Given the description of an element on the screen output the (x, y) to click on. 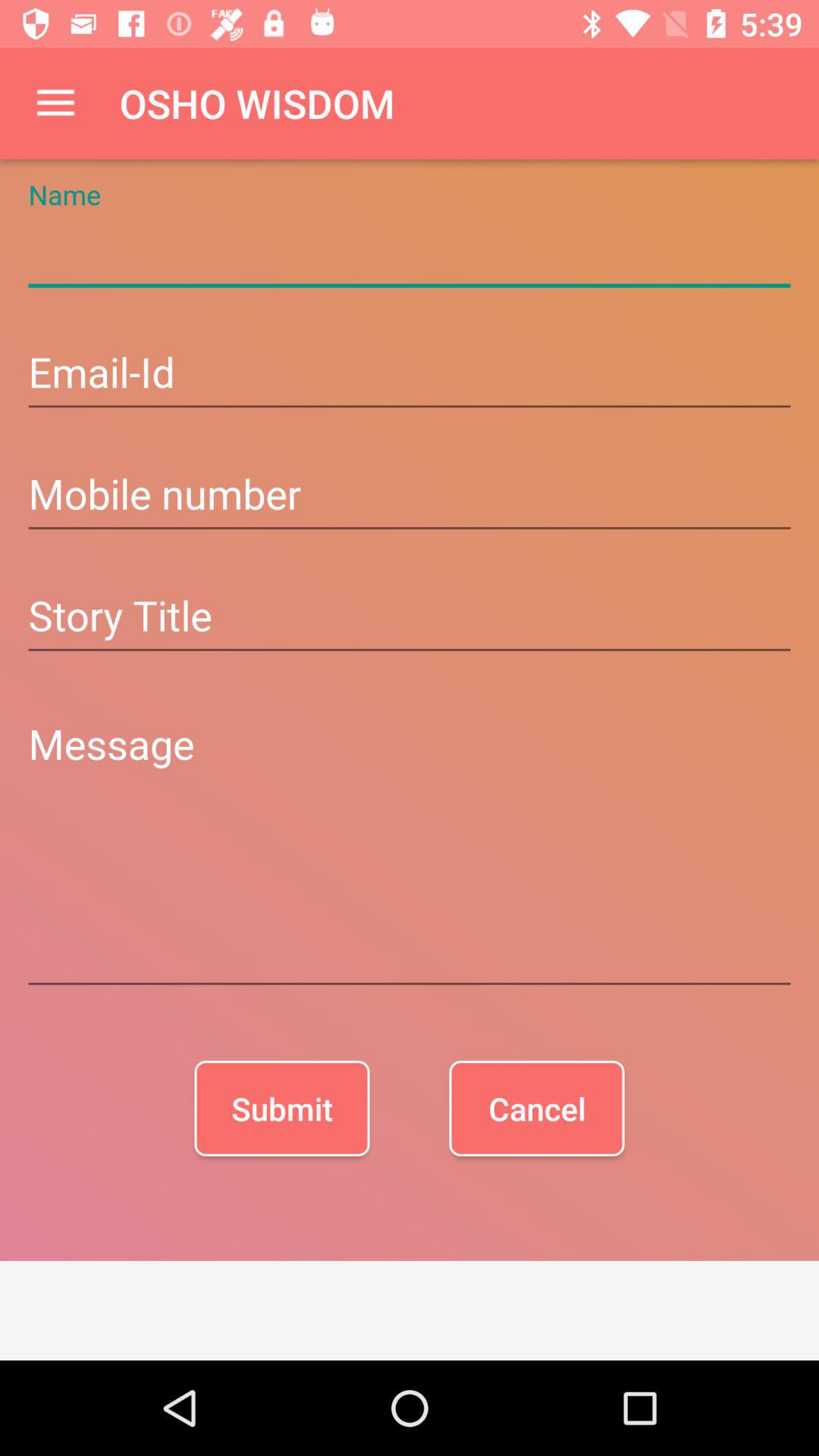
enter cell number (409, 496)
